Given the description of an element on the screen output the (x, y) to click on. 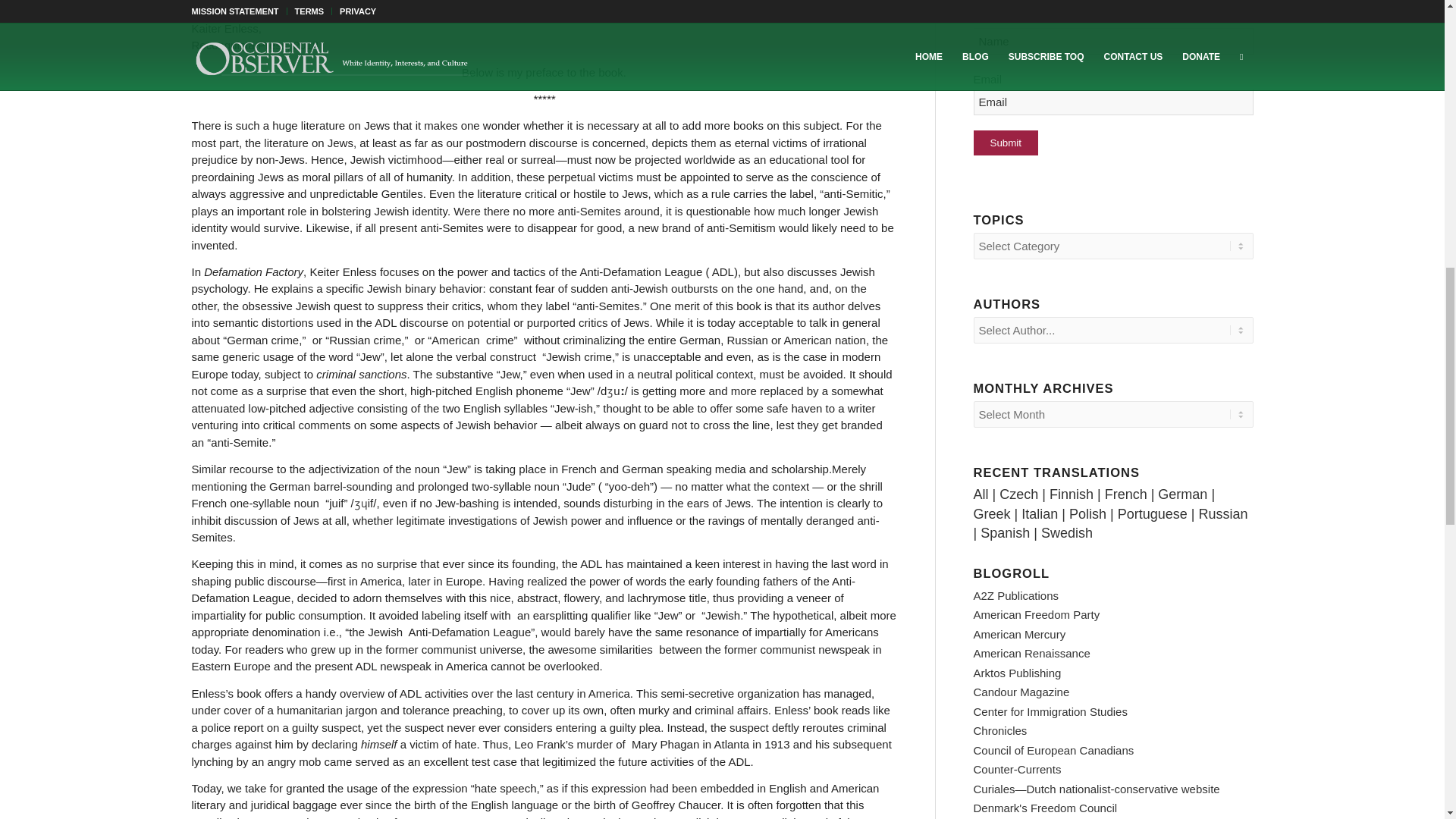
All (981, 494)
Finnish (1071, 494)
Submit (1006, 142)
Czech (1018, 494)
Submit (1006, 142)
